Given the description of an element on the screen output the (x, y) to click on. 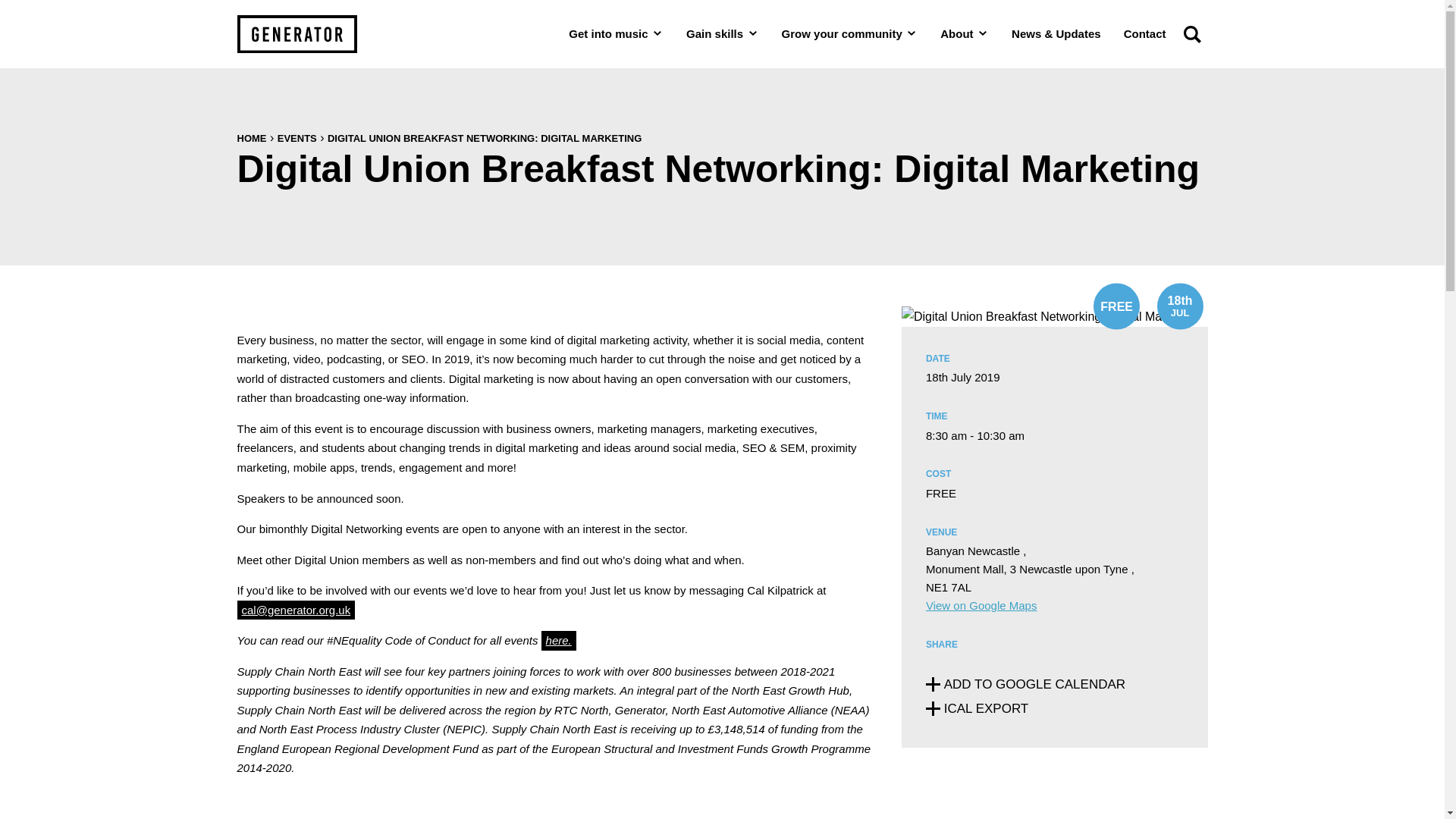
Gain skills (722, 33)
Grow your community (850, 33)
HOME (250, 138)
Search Generator (1191, 33)
Add this event's details to your iCal (976, 708)
View on Google Maps (981, 604)
Contact (1144, 33)
About (964, 33)
here. (558, 640)
View on Google Maps (981, 604)
Add this event's details to your Google Calendar (1025, 684)
Get into music (616, 33)
ICAL EXPORT (976, 708)
Return to the main Generator website (295, 34)
EVENTS (297, 138)
